Given the description of an element on the screen output the (x, y) to click on. 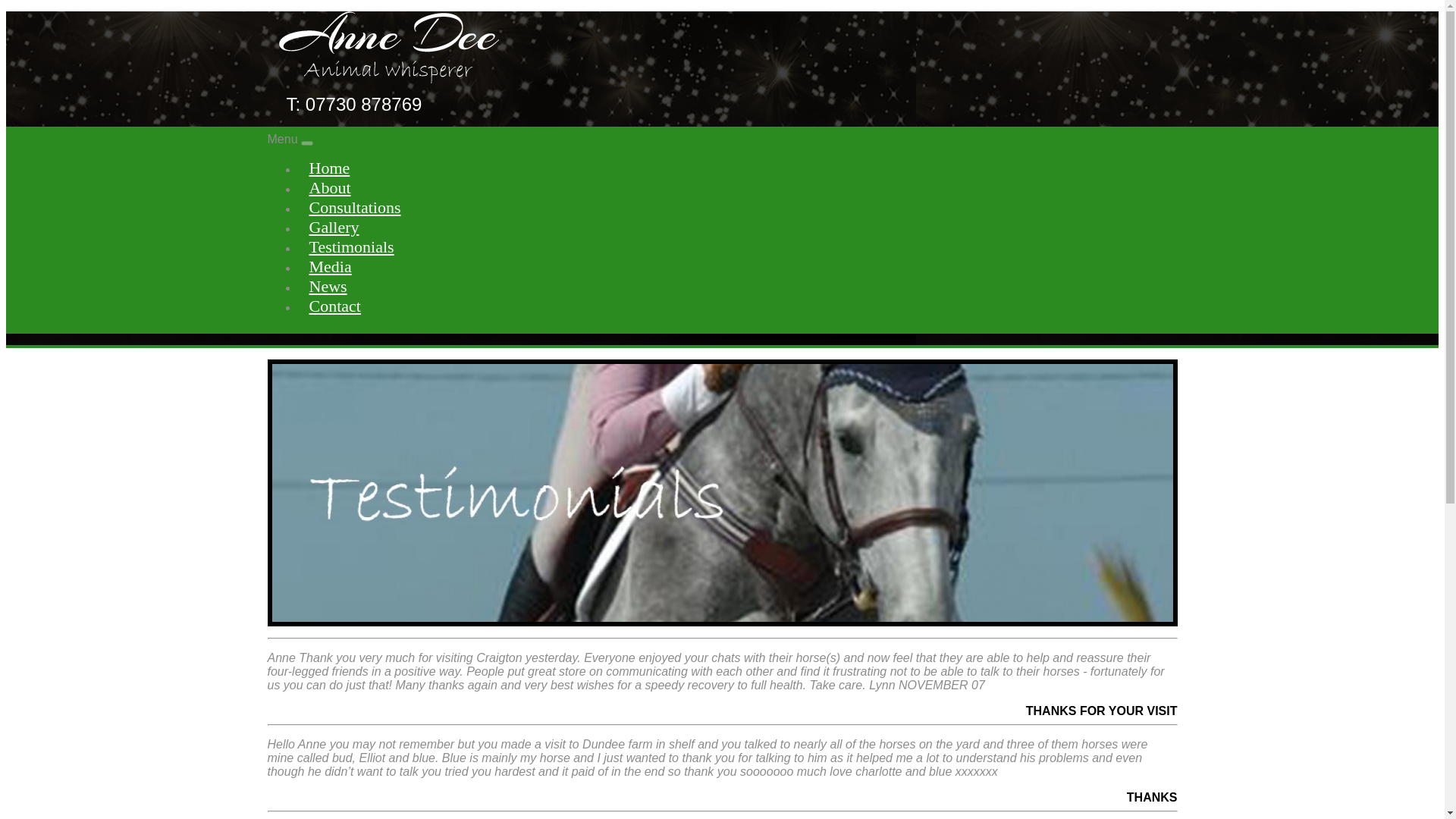
Home (736, 167)
Testimonials (736, 246)
Contact (736, 305)
Gallery (736, 226)
Consultations (736, 207)
News (736, 285)
About (736, 187)
Media (736, 266)
